Given the description of an element on the screen output the (x, y) to click on. 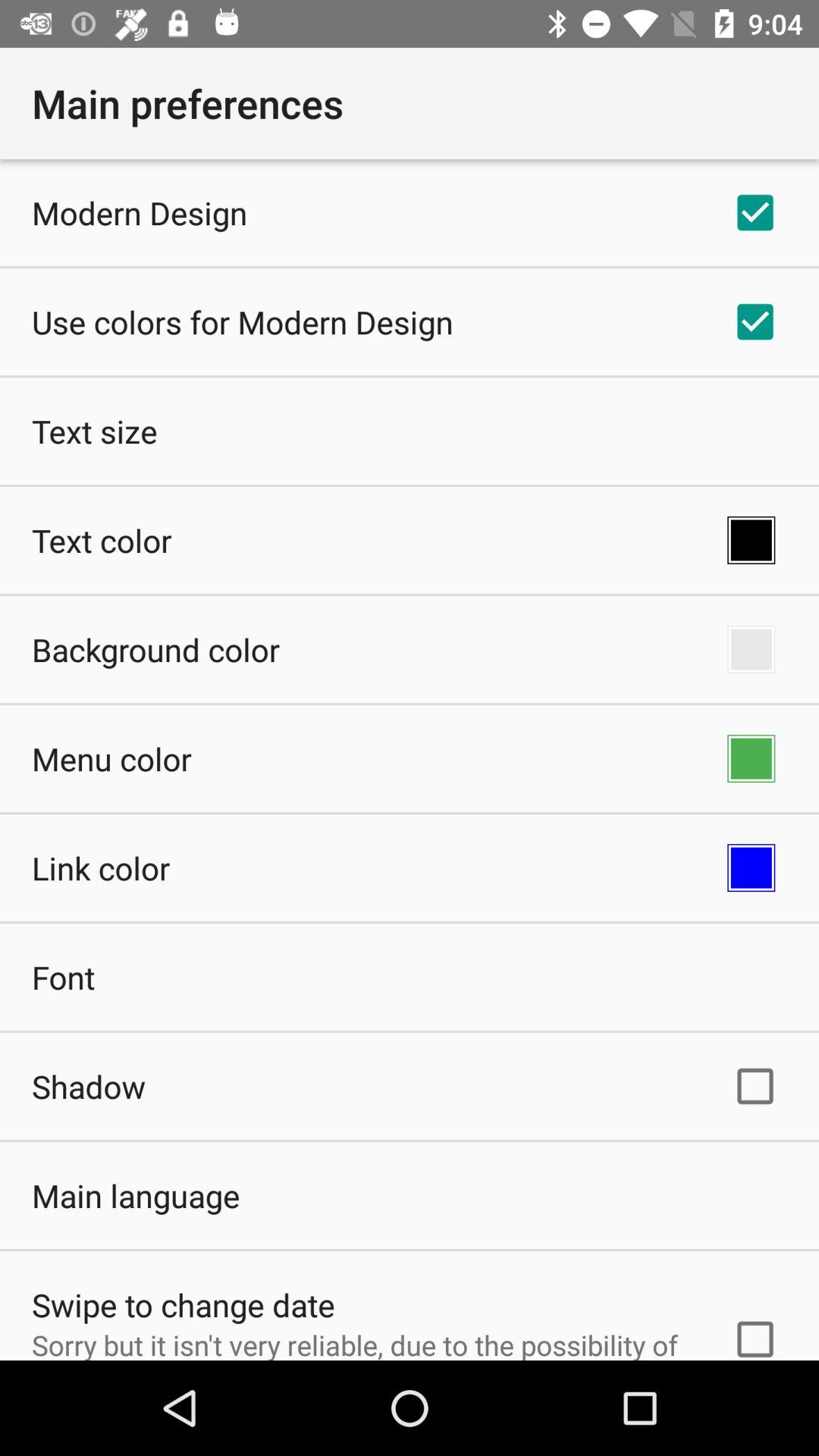
turn off the icon below the shadow item (135, 1195)
